Given the description of an element on the screen output the (x, y) to click on. 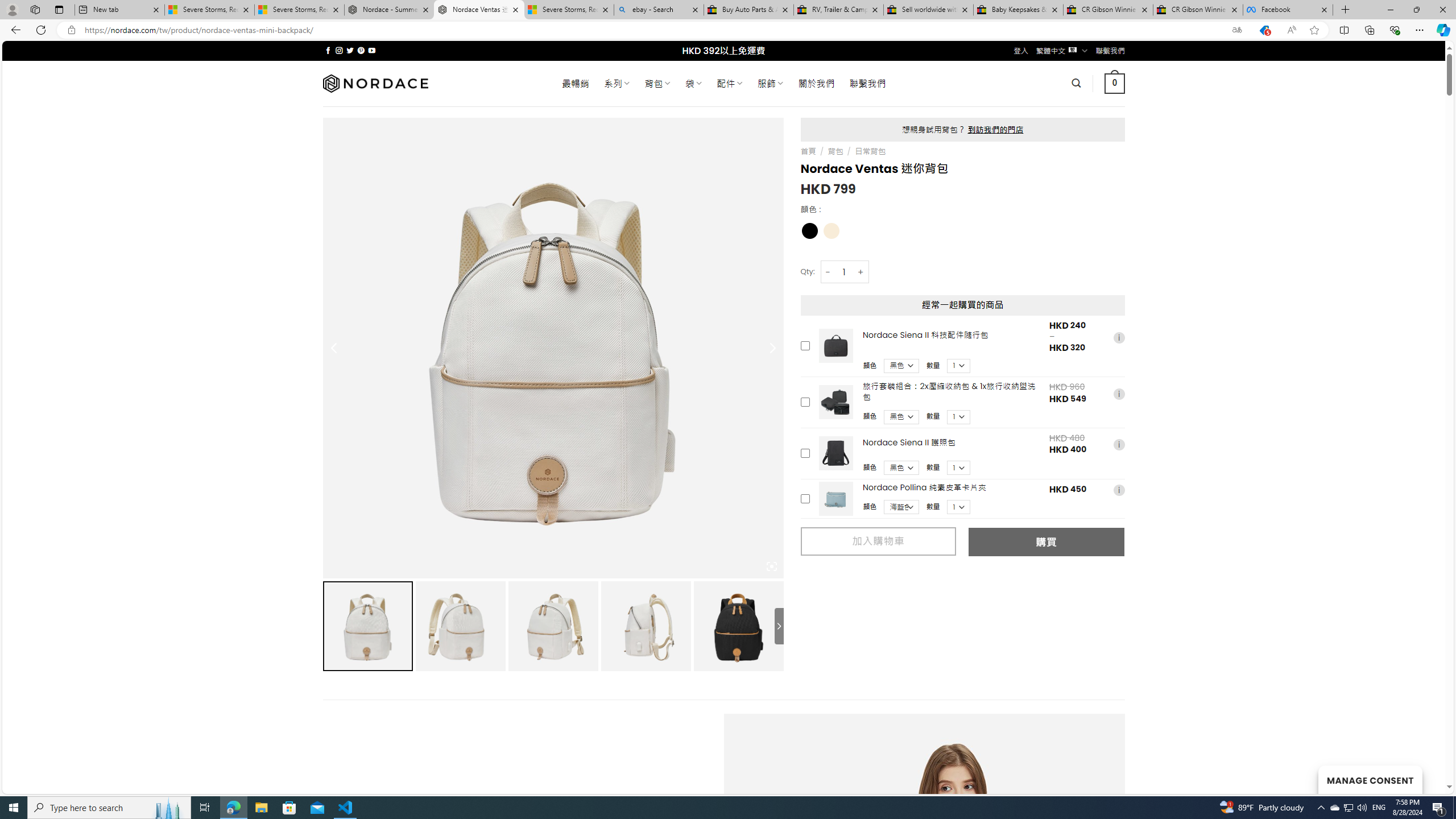
Sell worldwide with eBay (928, 9)
i (1118, 490)
Buy Auto Parts & Accessories | eBay (747, 9)
MANAGE CONSENT (1369, 779)
